Given the description of an element on the screen output the (x, y) to click on. 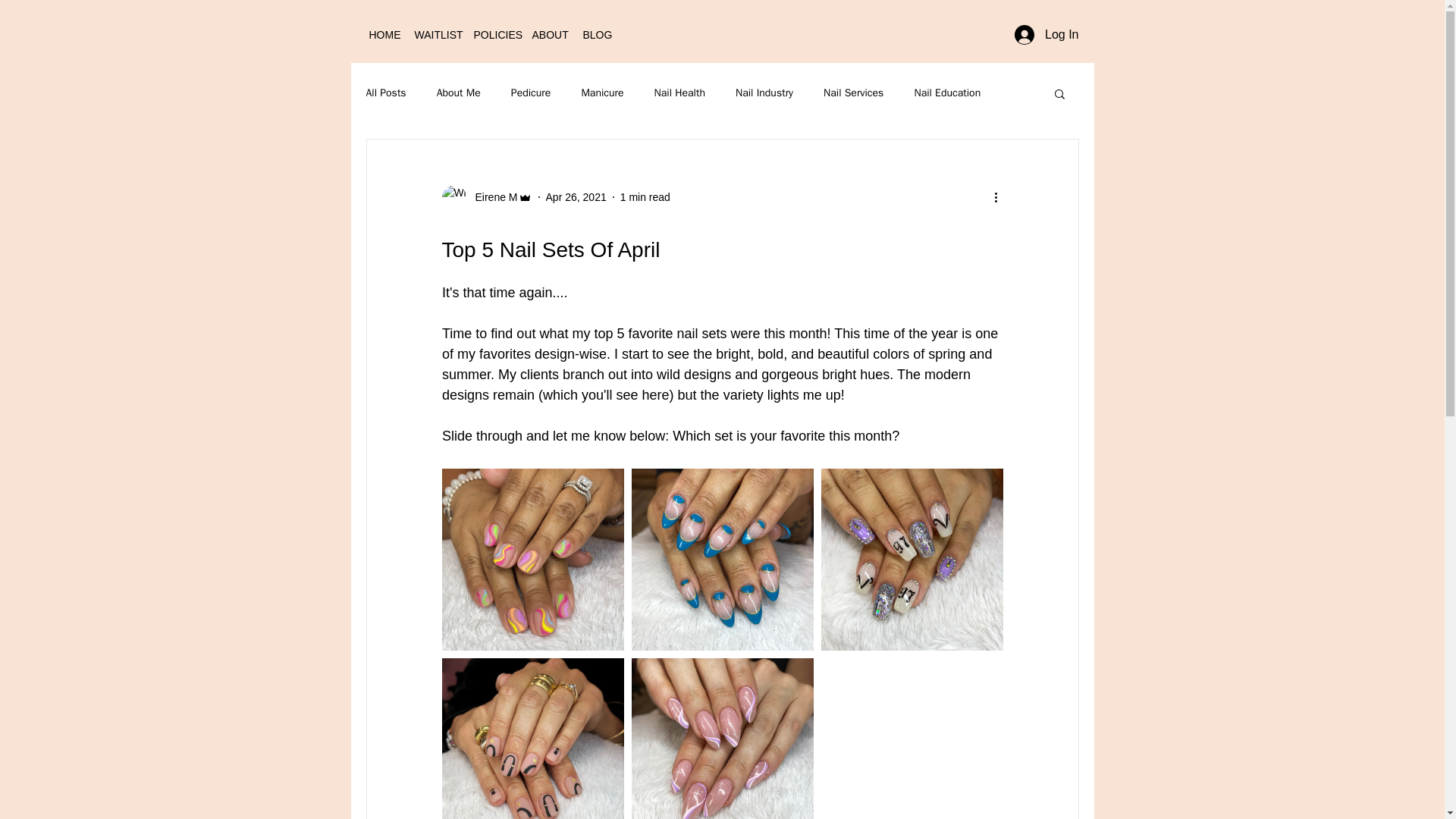
Log In (1046, 34)
Nail Industry (764, 92)
Nail Education (946, 92)
Manicure (601, 92)
All Posts (385, 92)
HOME (383, 34)
POLICIES (494, 34)
About Me (458, 92)
WAITLIST (435, 34)
Apr 26, 2021 (576, 196)
1 min read (644, 196)
Eirene M (490, 197)
Nail Services (853, 92)
ABOUT (549, 34)
Eirene M (486, 197)
